Given the description of an element on the screen output the (x, y) to click on. 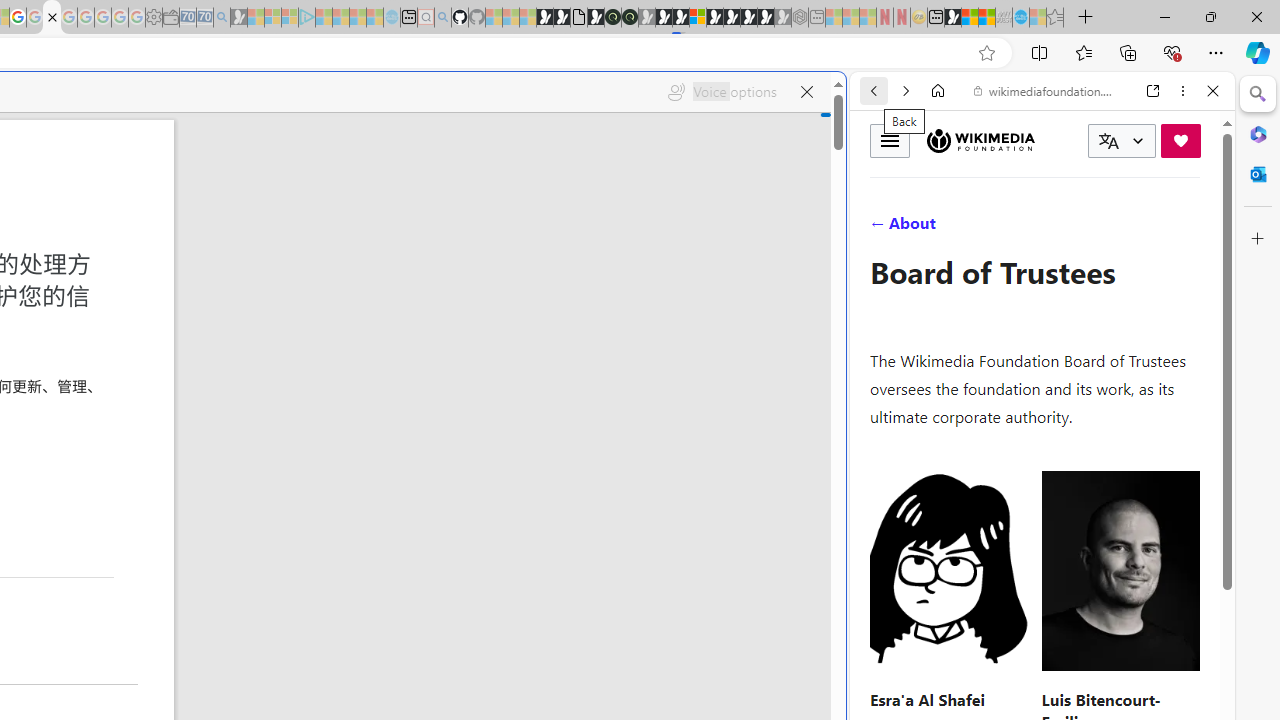
Favorites - Sleeping (1055, 17)
Sign in to your account (697, 17)
